Given the description of an element on the screen output the (x, y) to click on. 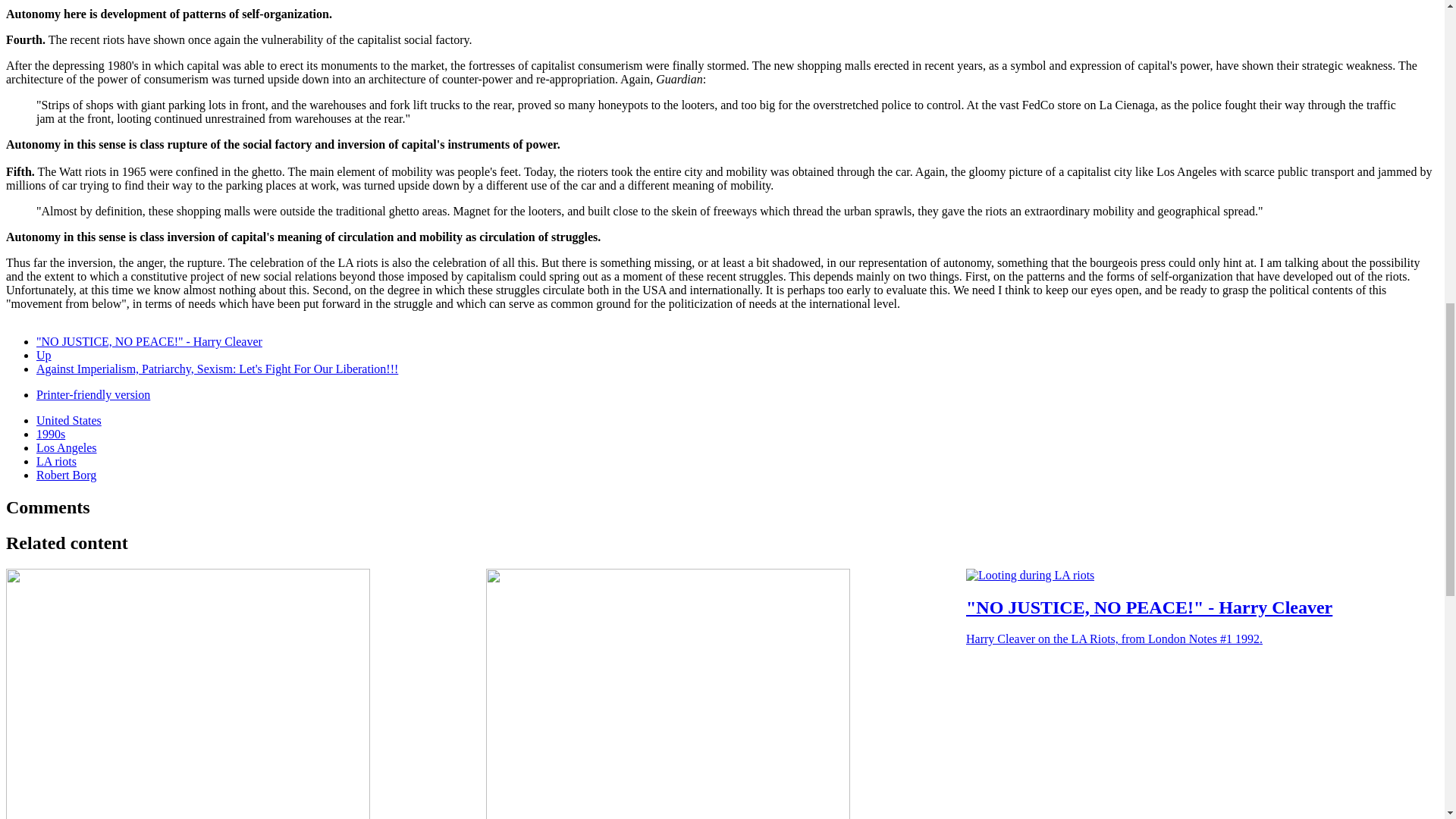
Go to previous page (149, 341)
"NO JUSTICE, NO PEACE!" - Harry Cleaver (149, 341)
Looting during LA riots (1030, 575)
LA riots (56, 461)
Go to parent page (43, 354)
Go to next page (216, 368)
United States (68, 420)
1990s (50, 433)
